Given the description of an element on the screen output the (x, y) to click on. 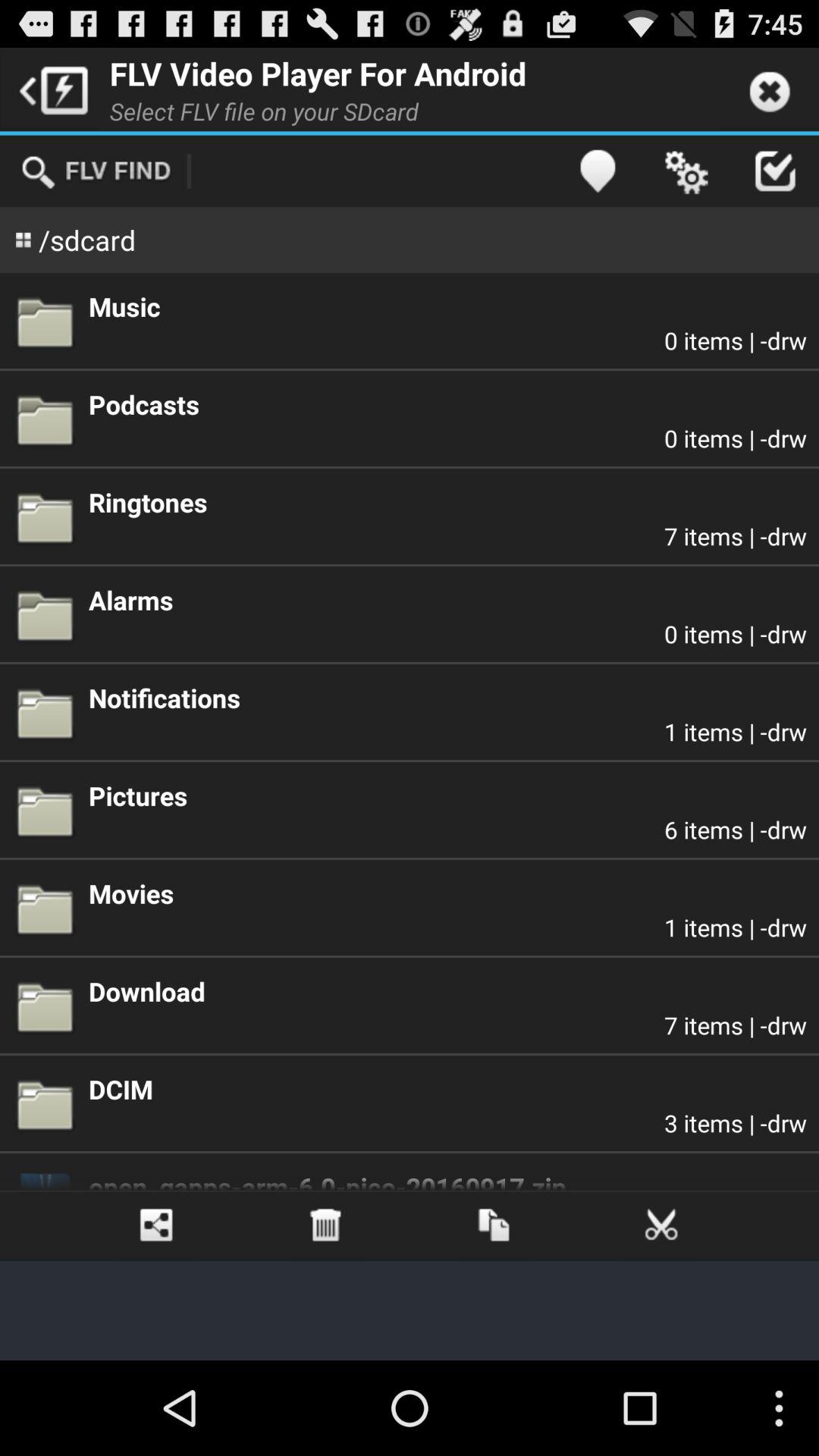
turn off the music (447, 306)
